Given the description of an element on the screen output the (x, y) to click on. 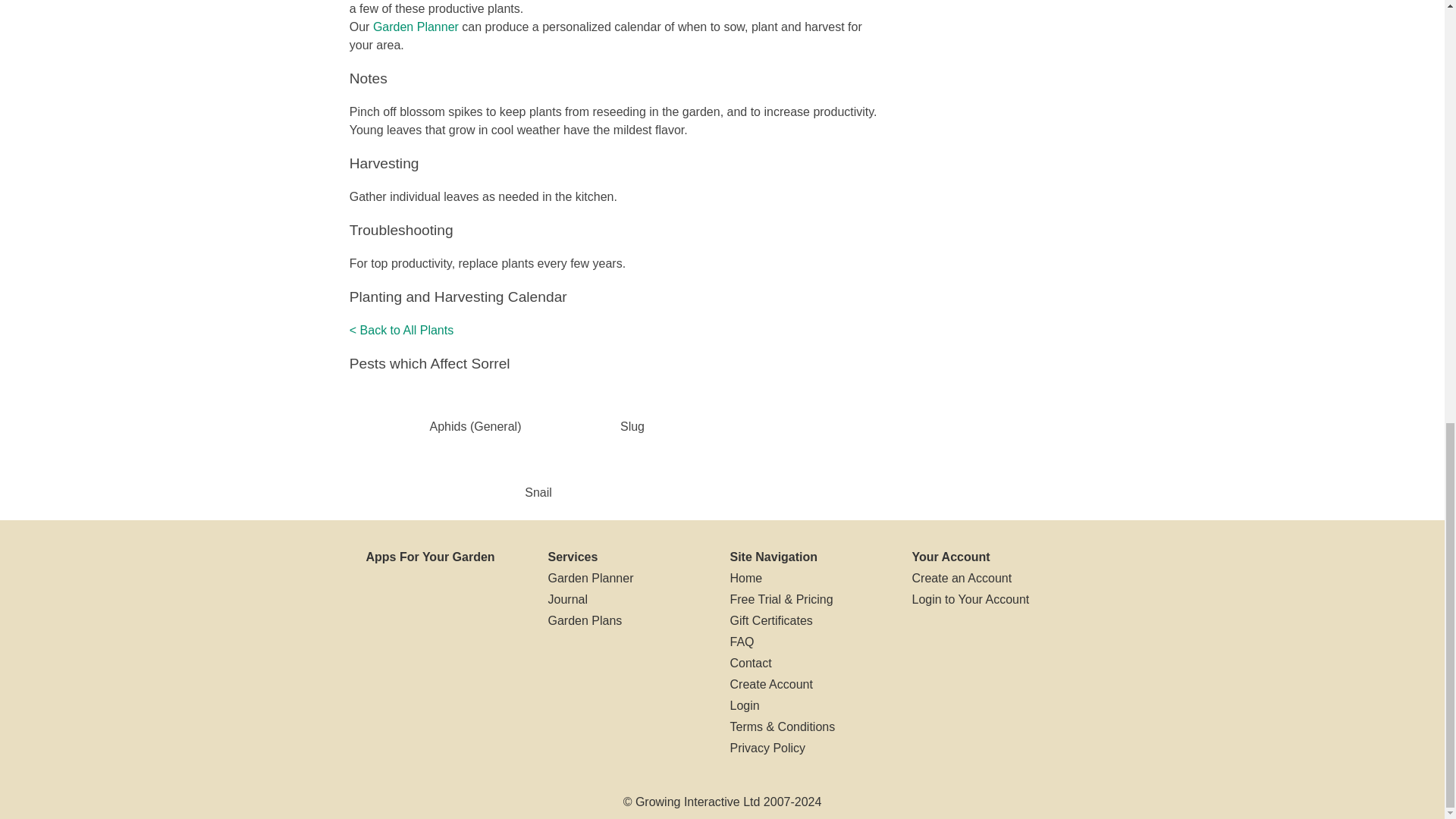
Garden Planner (590, 578)
Snail (537, 492)
Journal (566, 599)
Garden Plans (584, 620)
Garden Planner (415, 26)
Slug (632, 426)
